Given the description of an element on the screen output the (x, y) to click on. 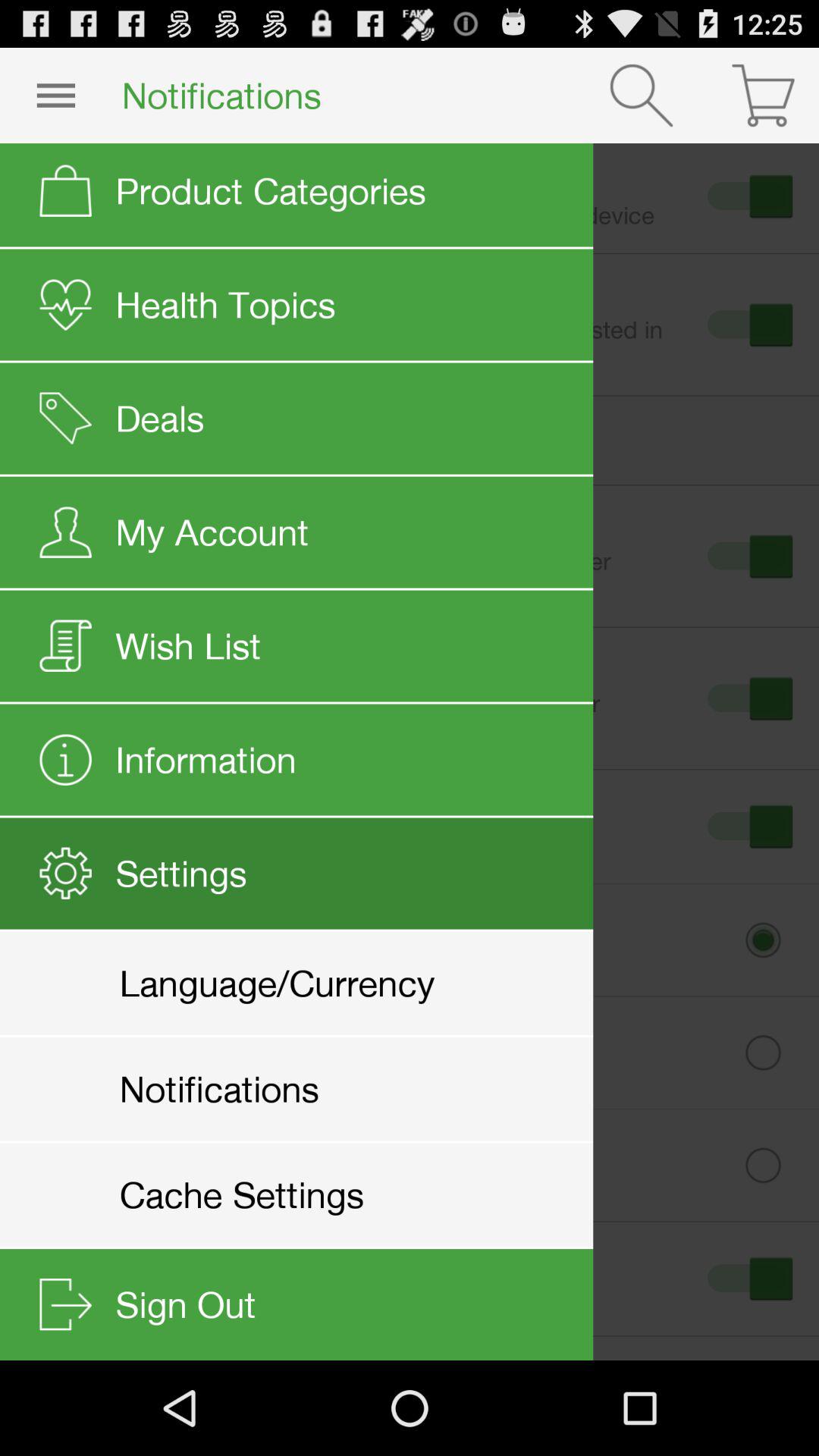
select the switch button below the 1st switch button on the web page (747, 324)
click the button cache settings on the web page (421, 1165)
click on third button from the top (747, 555)
select the icon on the left to the wish list button on the web page (68, 645)
